Given the description of an element on the screen output the (x, y) to click on. 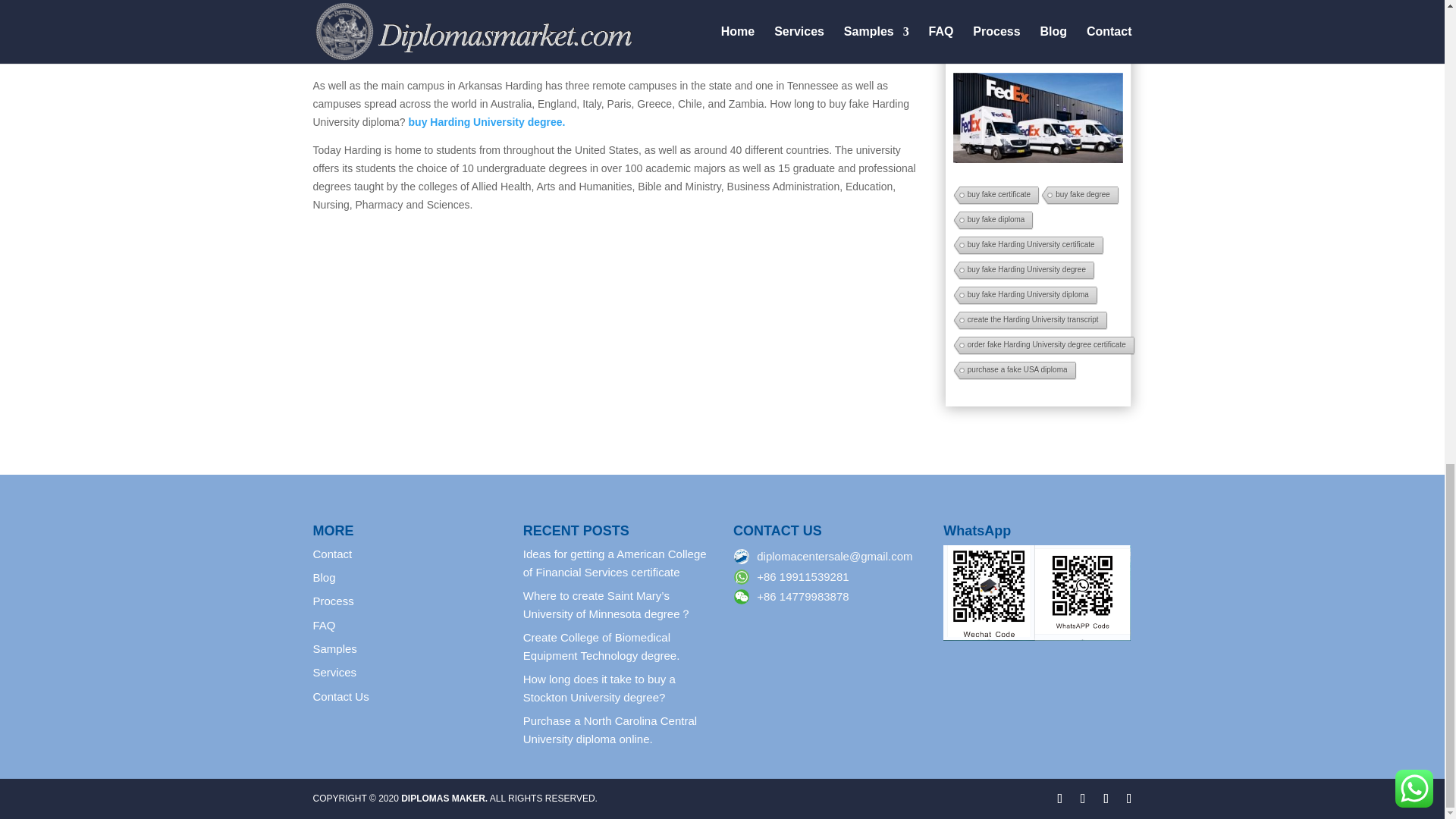
YouTube video player (616, 33)
buy Harding University degree. (487, 121)
How much Apply for fake Harding University diploma online? (1038, 29)
How much Apply for fake Harding University diploma online? (1038, 117)
How much Apply for fake Harding University diploma online? (1037, 592)
